Given the description of an element on the screen output the (x, y) to click on. 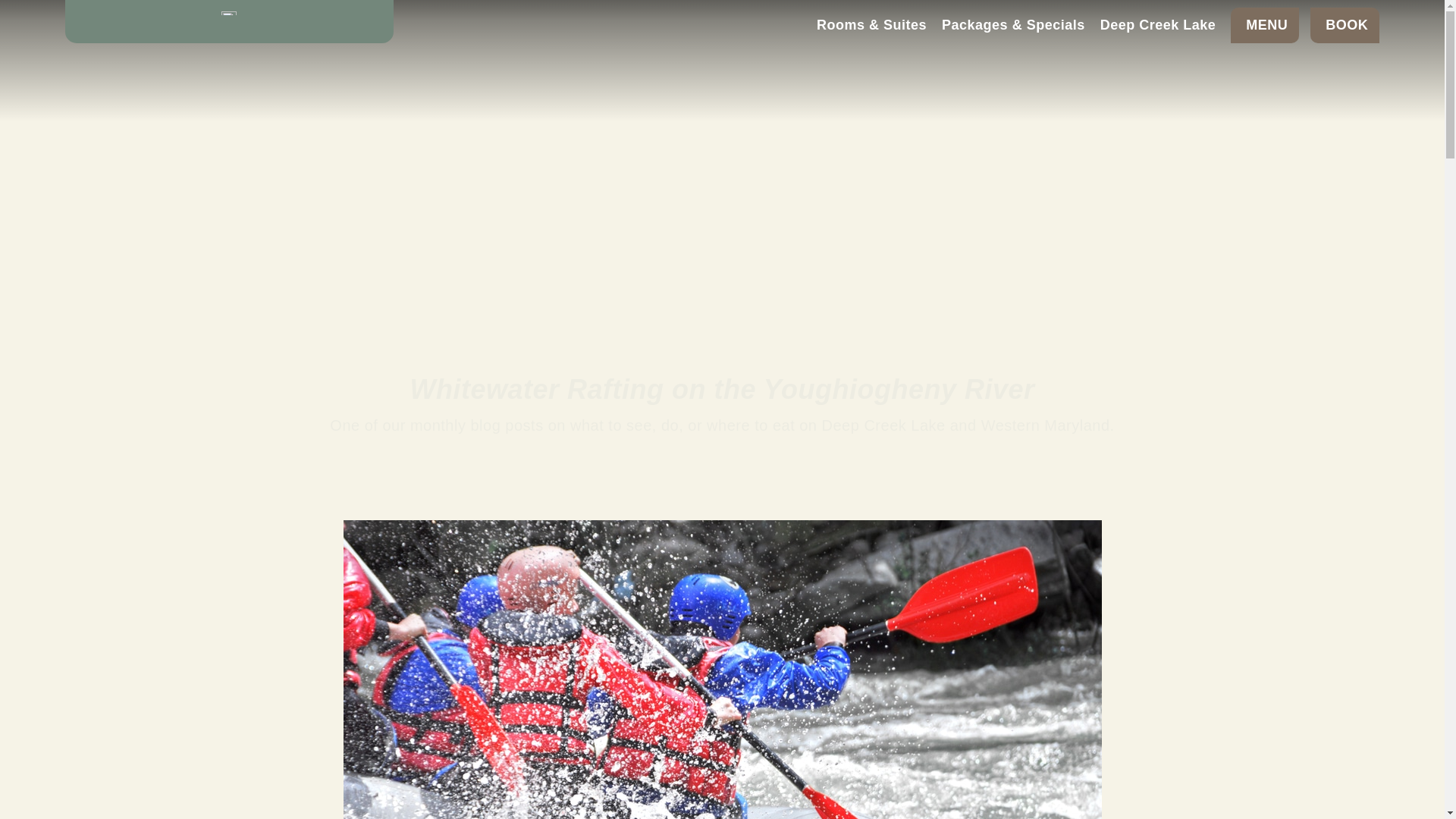
MENU (1264, 25)
Deep Creek Lake (1157, 25)
BOOK (1344, 25)
